Given the description of an element on the screen output the (x, y) to click on. 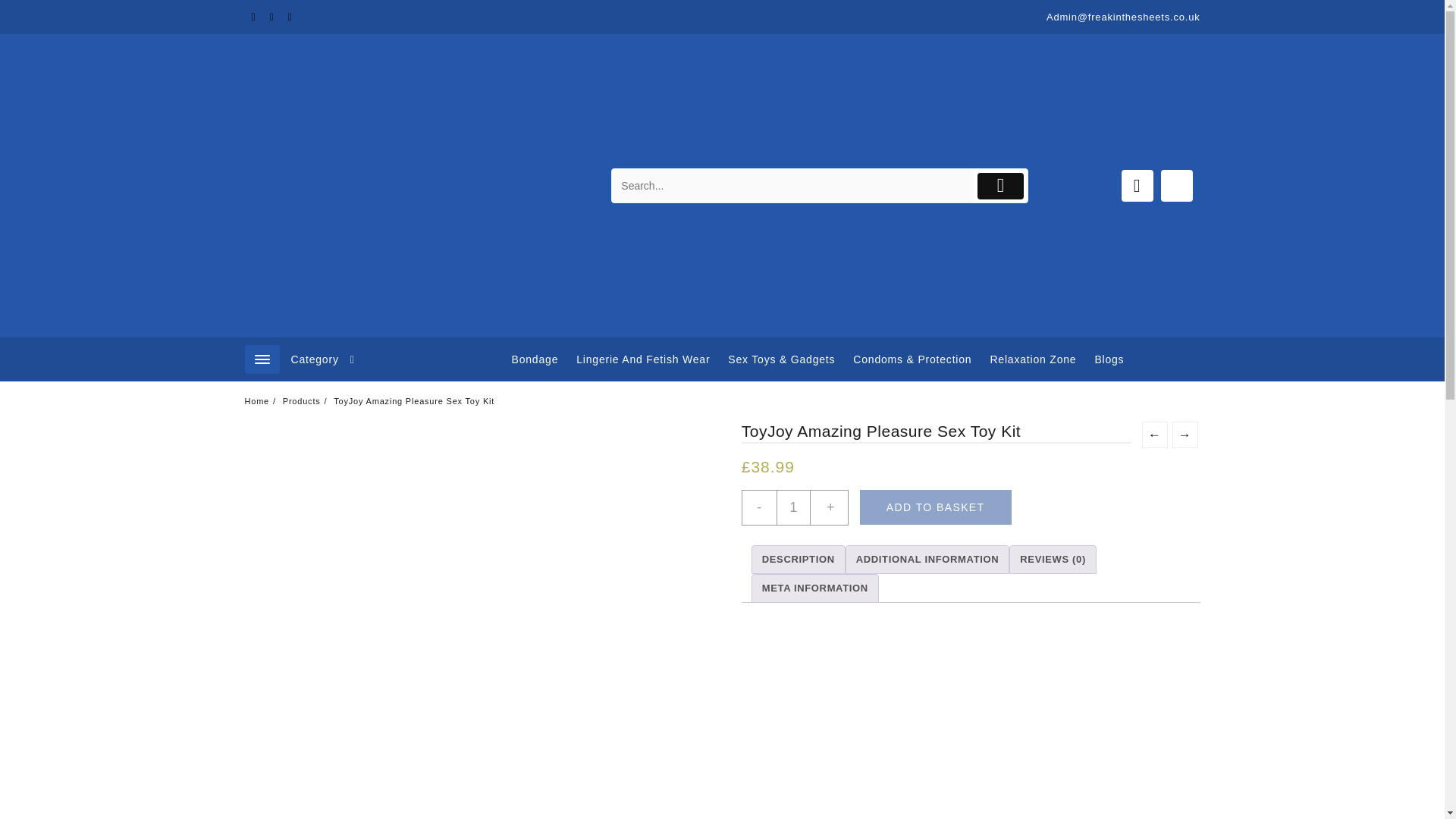
1 (793, 507)
Submit (999, 185)
Search (792, 185)
